Given the description of an element on the screen output the (x, y) to click on. 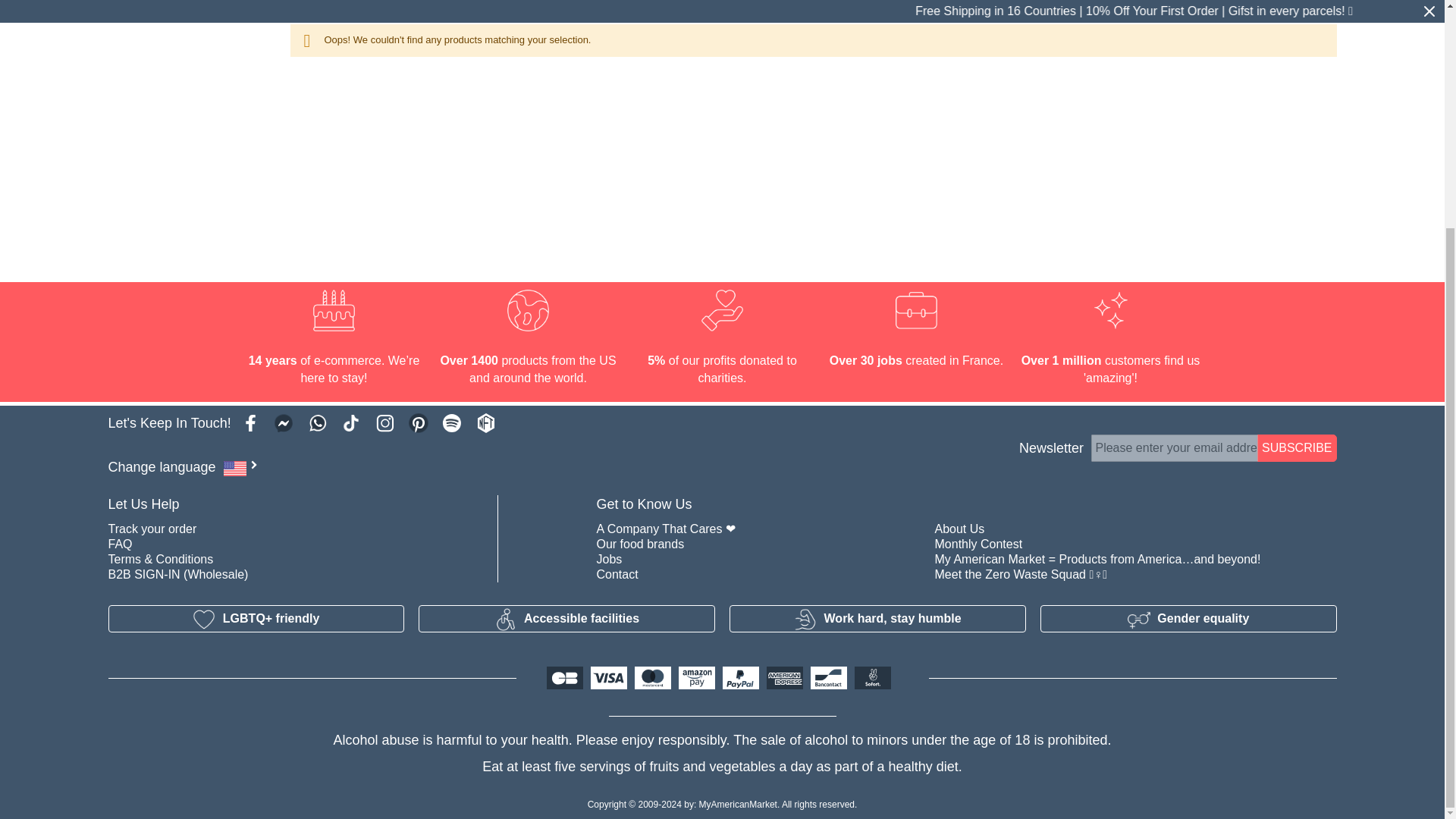
Uha (191, 4)
